Given the description of an element on the screen output the (x, y) to click on. 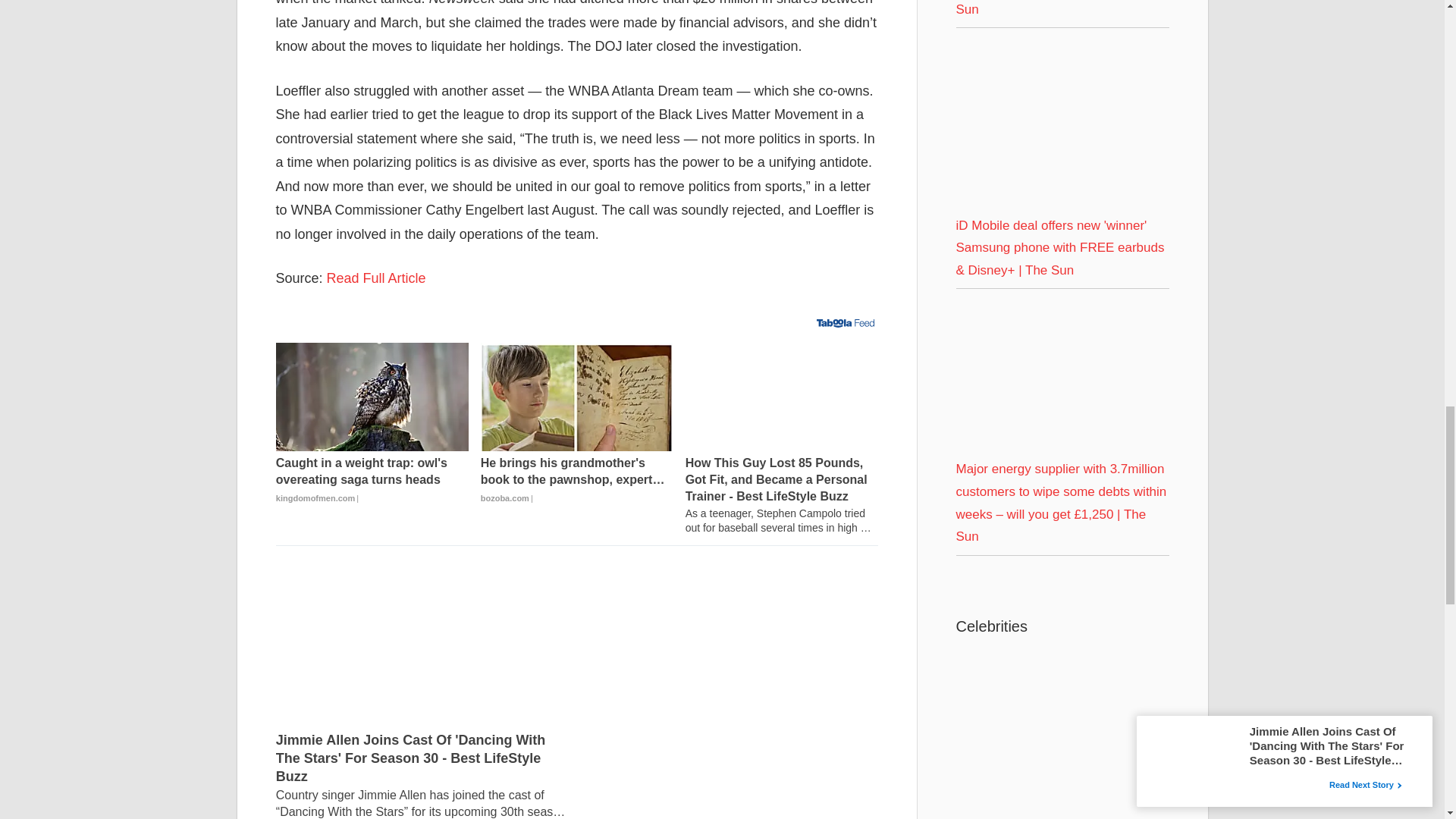
Read Full Article (376, 278)
Caught in a weight trap: owl's overeating saga turns heads (372, 397)
Caught in a weight trap: owl's overeating saga turns heads (372, 480)
